Given the description of an element on the screen output the (x, y) to click on. 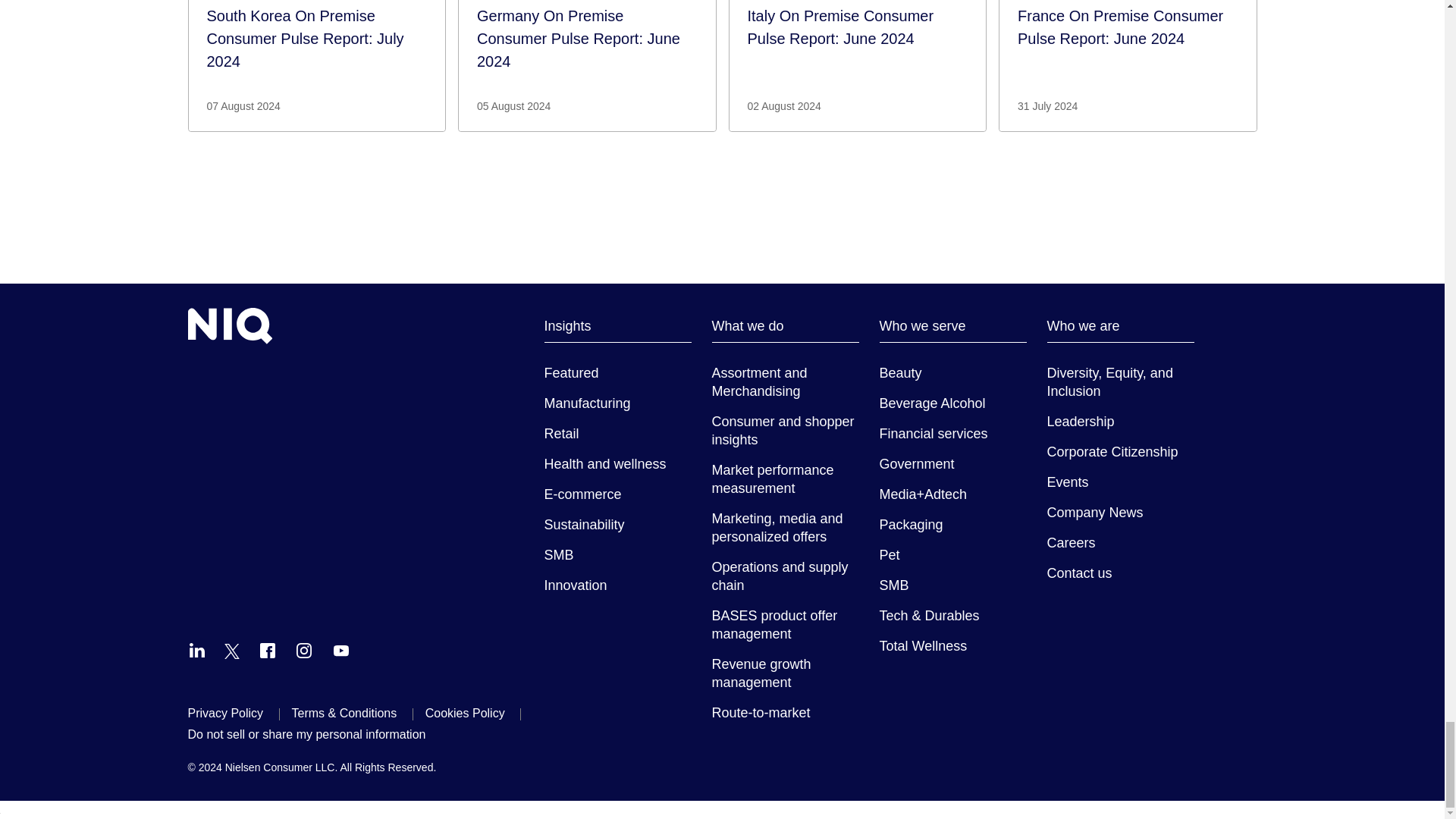
Instagram (304, 650)
YouTube (340, 650)
Facebook (266, 650)
Linkedin (196, 650)
